Given the description of an element on the screen output the (x, y) to click on. 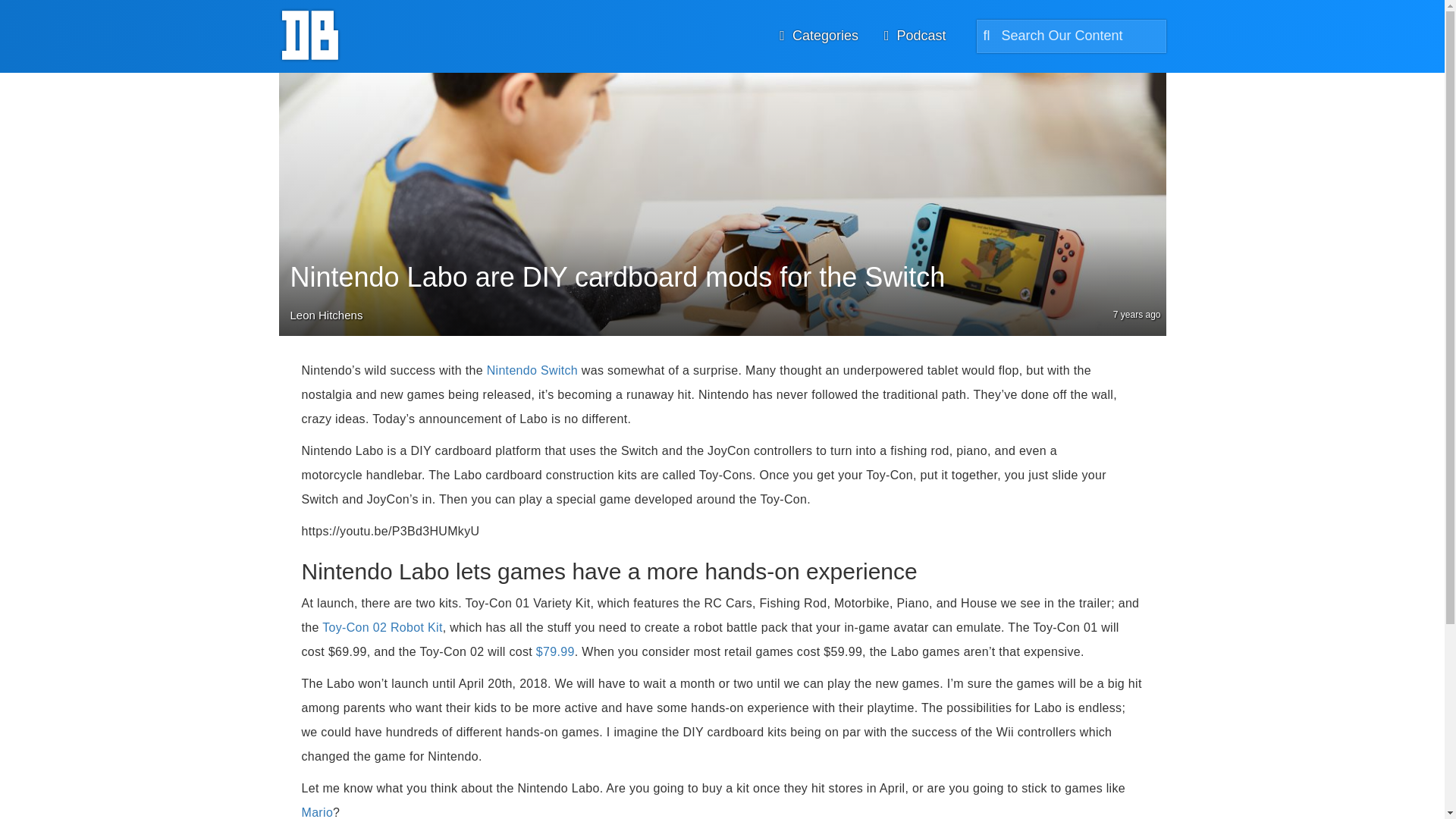
Toy-Con 02 Robot Kit (381, 626)
  Podcast (914, 35)
Nintendo Switch (532, 369)
  Categories (818, 35)
Mario (317, 812)
